Given the description of an element on the screen output the (x, y) to click on. 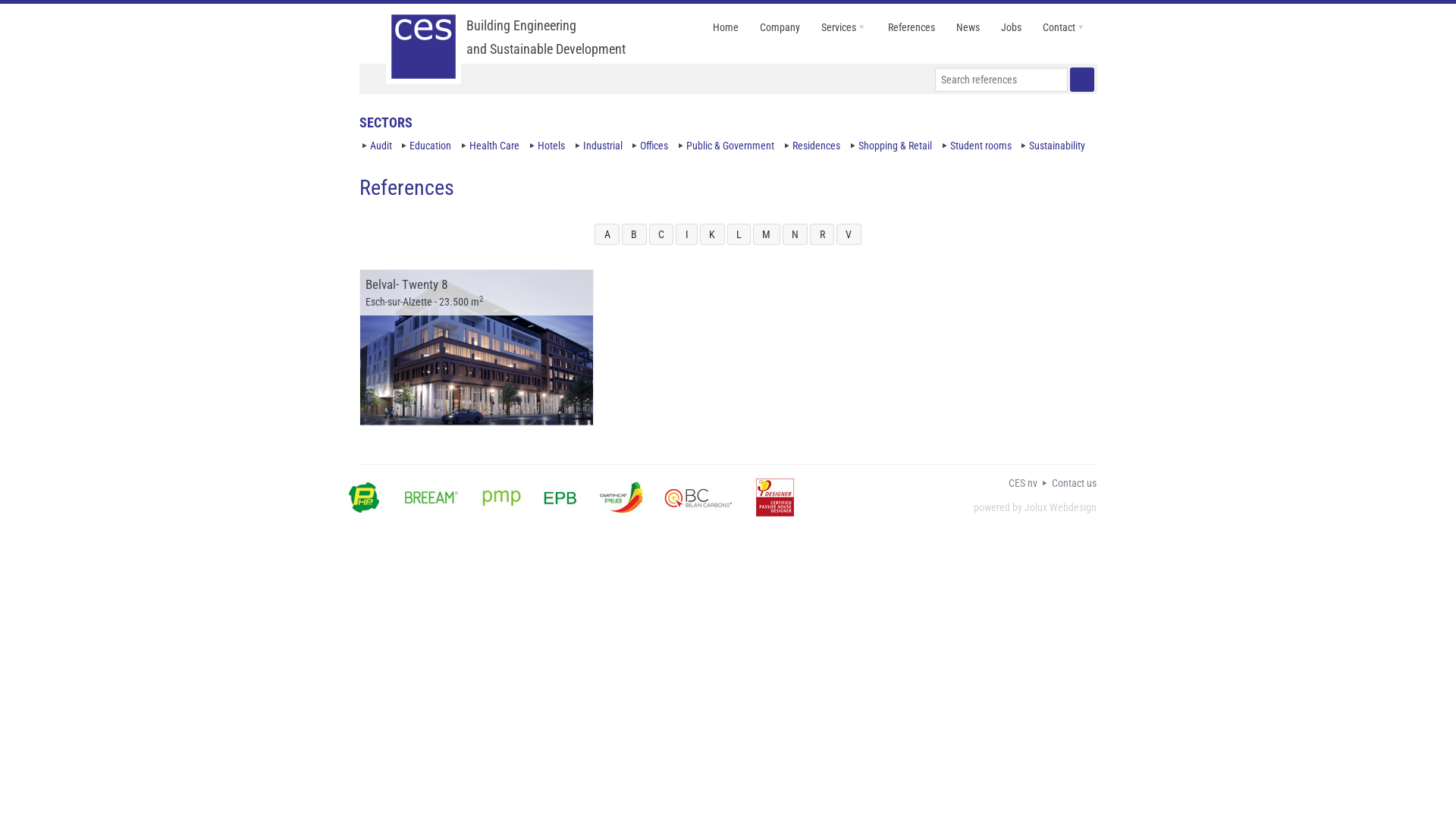
Hotels Element type: text (550, 145)
Company Element type: text (779, 27)
References Element type: text (911, 27)
M Element type: text (766, 234)
A Element type: text (606, 234)
Public & Government Element type: text (730, 145)
K Element type: text (711, 234)
N Element type: text (795, 234)
Offices Element type: text (654, 145)
R Element type: text (821, 234)
Audit Element type: text (381, 145)
Jobs Element type: text (1011, 27)
Student rooms Element type: text (980, 145)
Sustainability Element type: text (1057, 145)
Services Element type: text (843, 27)
I Element type: text (686, 234)
Belval- Twenty 8
Esch-sur-Alzette - 23.500 m2 Element type: text (475, 347)
powered by Jolux Webdesign Element type: text (1034, 507)
Shopping & Retail Element type: text (894, 145)
C Element type: text (661, 234)
Industrial Element type: text (602, 145)
Contact Element type: text (1064, 27)
L Element type: text (738, 234)
News Element type: text (967, 27)
B Element type: text (633, 234)
Contact us Element type: text (1073, 482)
Health Care Element type: text (494, 145)
Home Element type: text (725, 27)
Residences Element type: text (816, 145)
Education Element type: text (430, 145)
V Element type: text (848, 234)
